Given the description of an element on the screen output the (x, y) to click on. 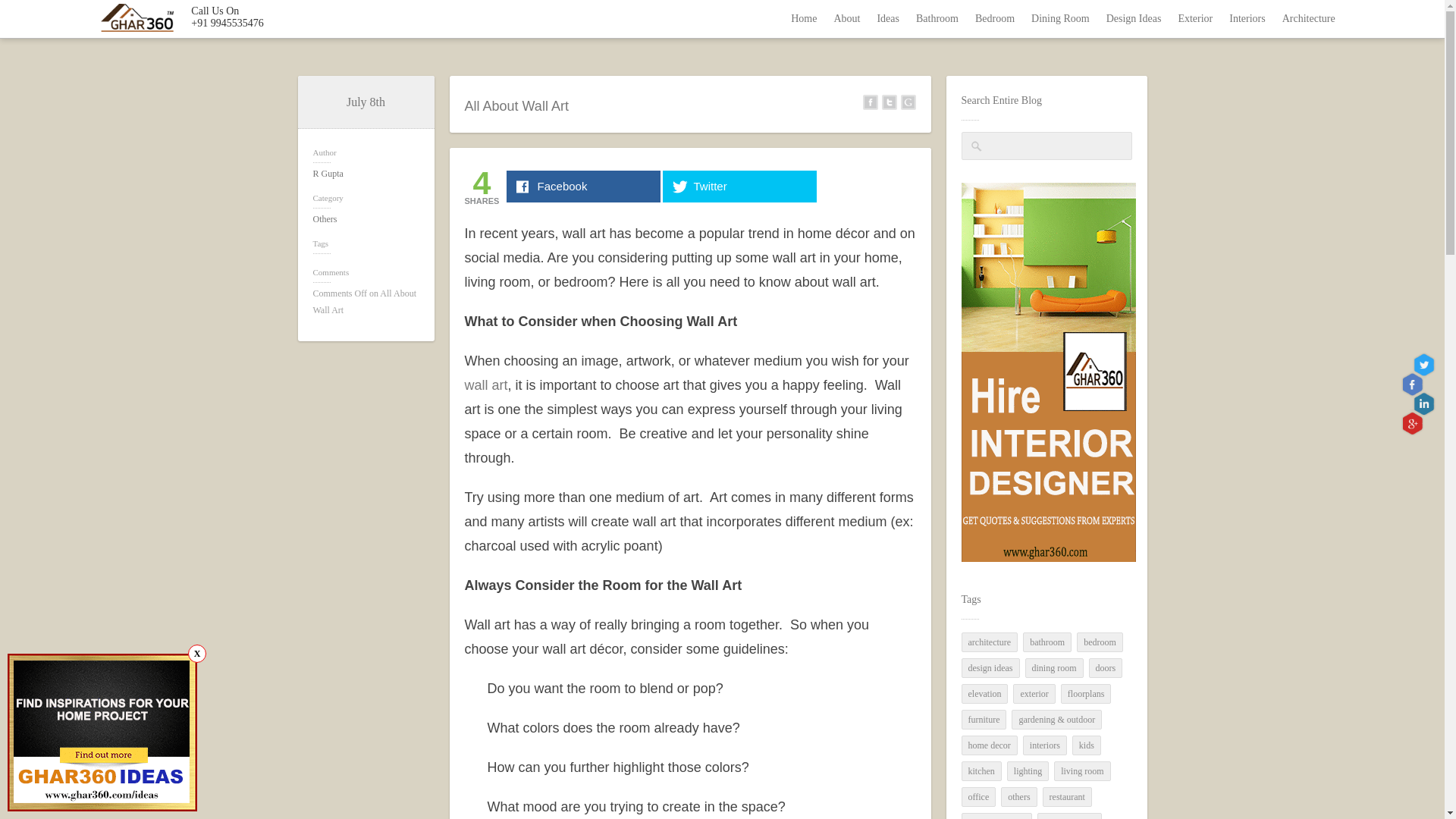
190 topics (988, 745)
Ideas (887, 18)
105 topics (988, 641)
29 topics (984, 693)
Interiors (1246, 18)
56 topics (983, 719)
250 topics (990, 668)
73 topics (980, 771)
Bathroom (936, 18)
12 topics (1086, 693)
